Given the description of an element on the screen output the (x, y) to click on. 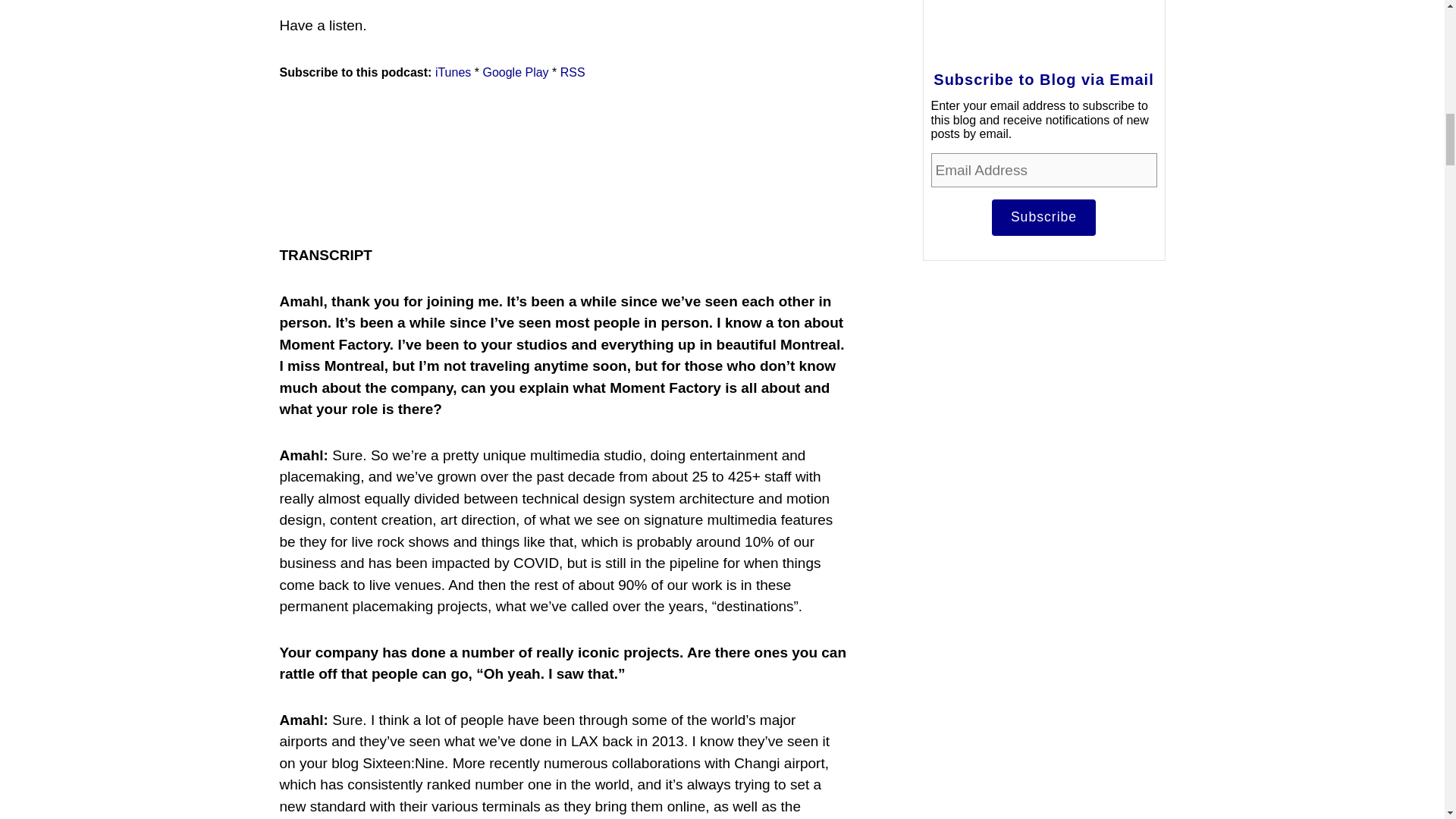
Subscribe (1043, 217)
Google Play (514, 72)
iTunes (452, 72)
RSS (572, 72)
